Given the description of an element on the screen output the (x, y) to click on. 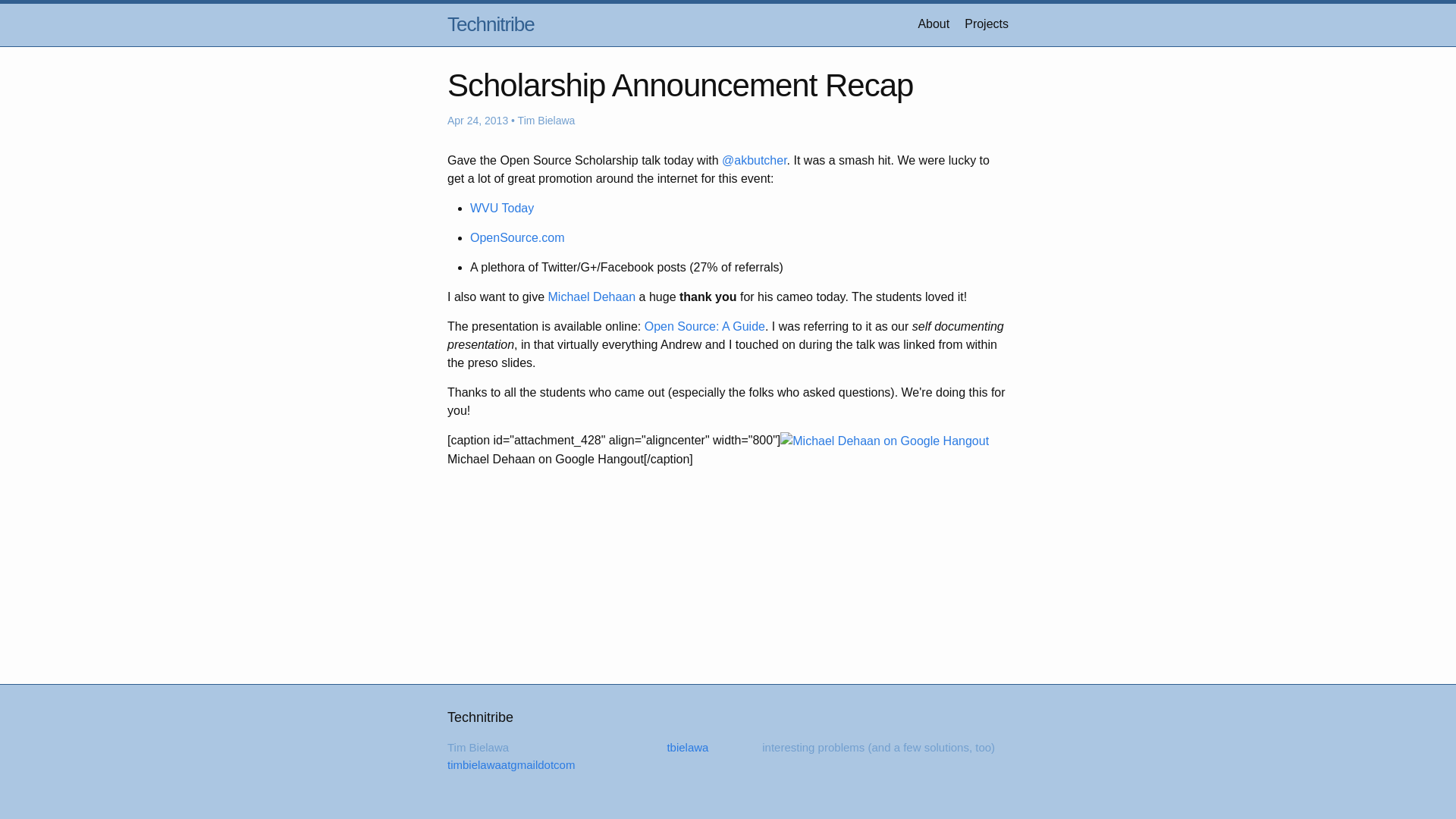
Michael Dehaan (592, 296)
Technitribe (490, 24)
OpenSource.com (517, 237)
Projects (986, 23)
timbielawaatgmaildotcom (510, 764)
tbielawa (677, 747)
Open Source: A Guide (705, 326)
About (933, 23)
WVU Today (502, 207)
